Given the description of an element on the screen output the (x, y) to click on. 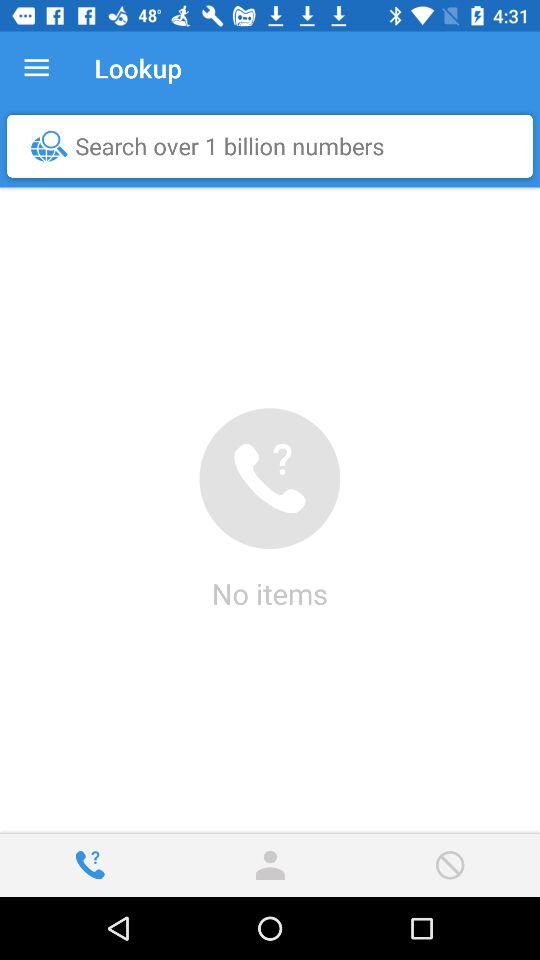
scroll to the search over 1 icon (275, 146)
